Given the description of an element on the screen output the (x, y) to click on. 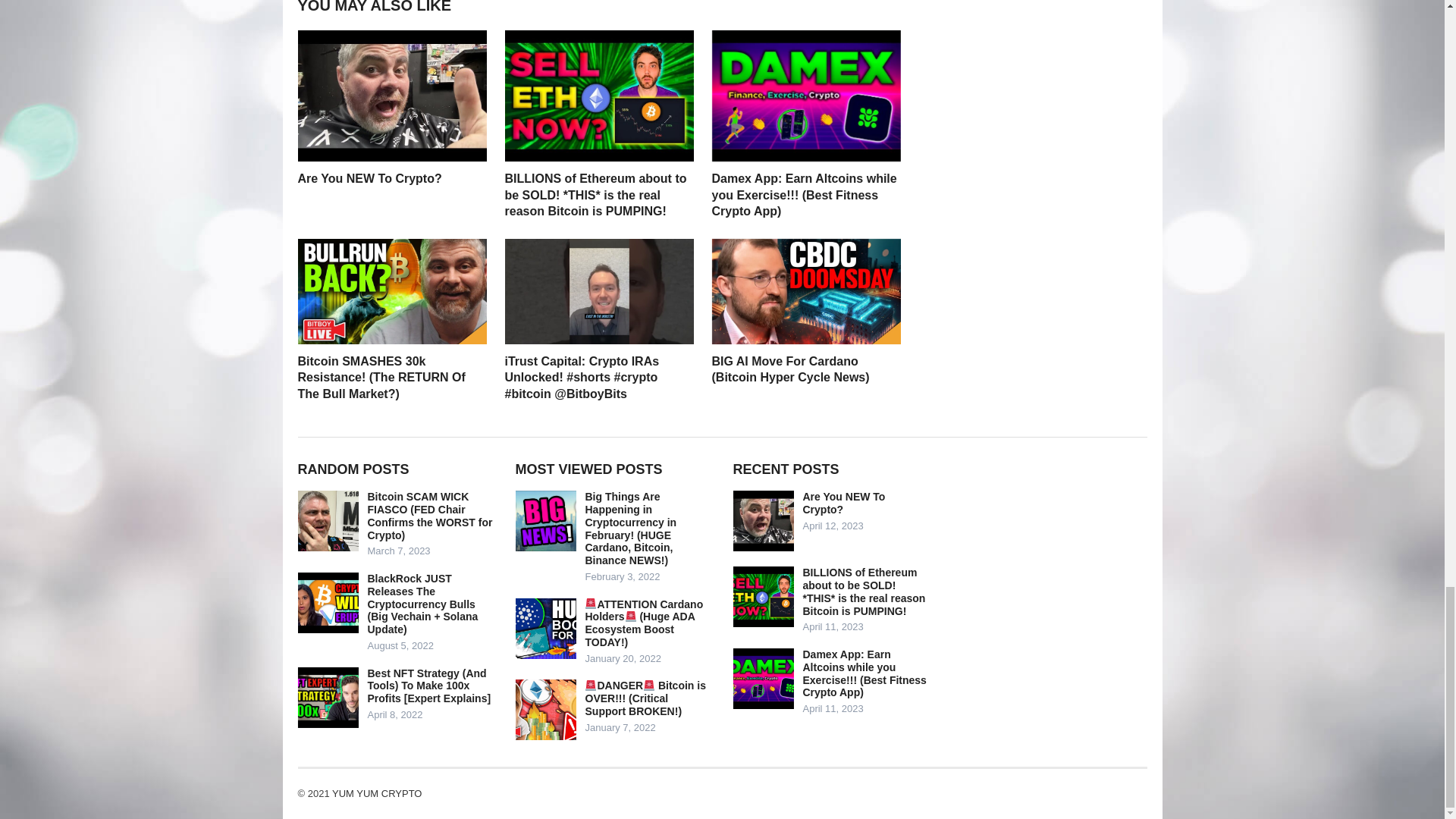
Are You NEW To Crypto? 2 (391, 95)
